Given the description of an element on the screen output the (x, y) to click on. 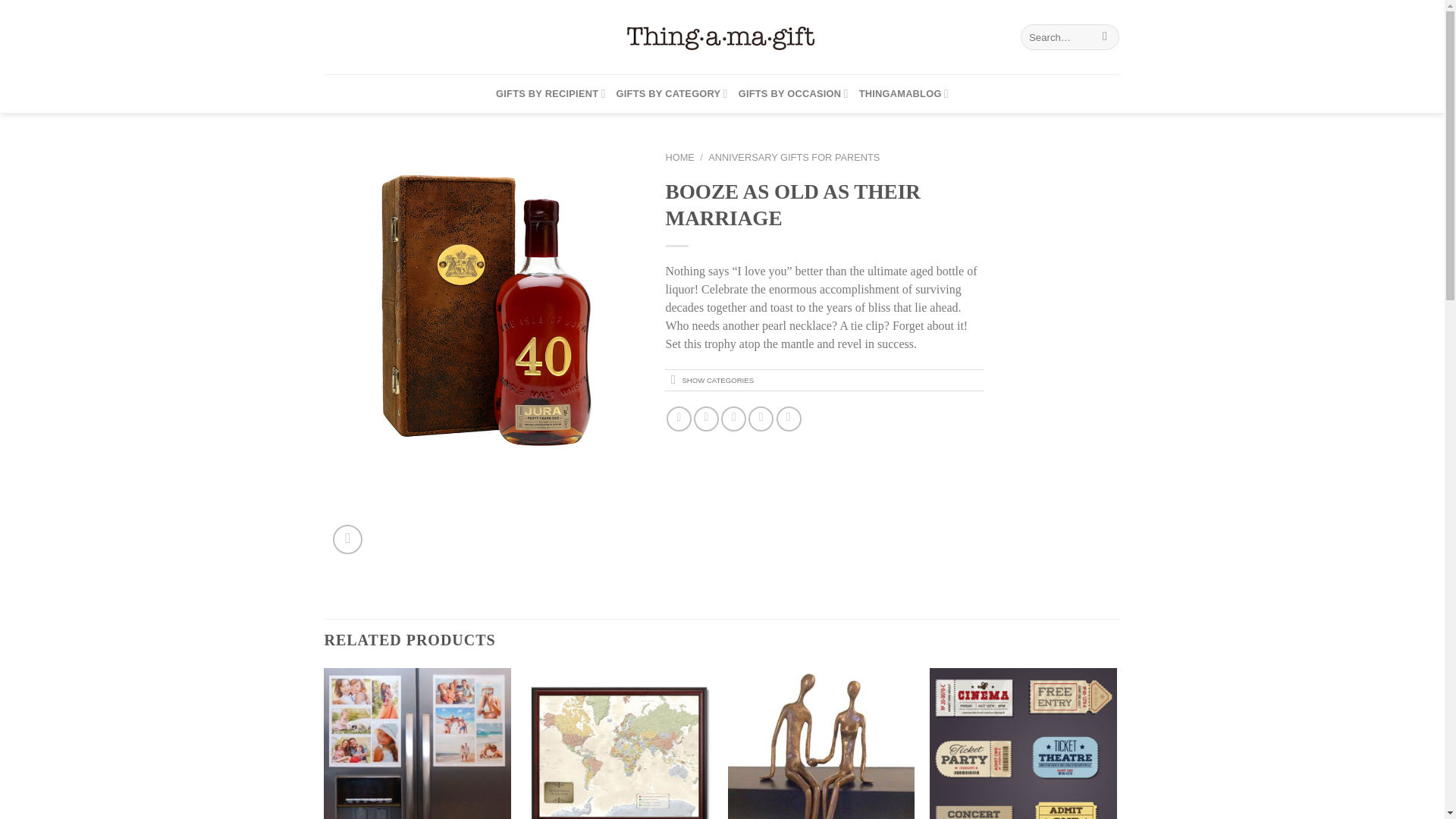
Zoom (347, 539)
Share on Twitter (706, 418)
Search (1105, 36)
Pin on Pinterest (760, 418)
40-year-old-booze-gift (483, 310)
Share on Facebook (678, 418)
Share on Tumblr (789, 418)
GIFTS BY RECIPIENT (550, 93)
This Year's Best Gift Ideas (721, 36)
GIFTS BY CATEGORY (671, 93)
Email to a Friend (732, 418)
